Given the description of an element on the screen output the (x, y) to click on. 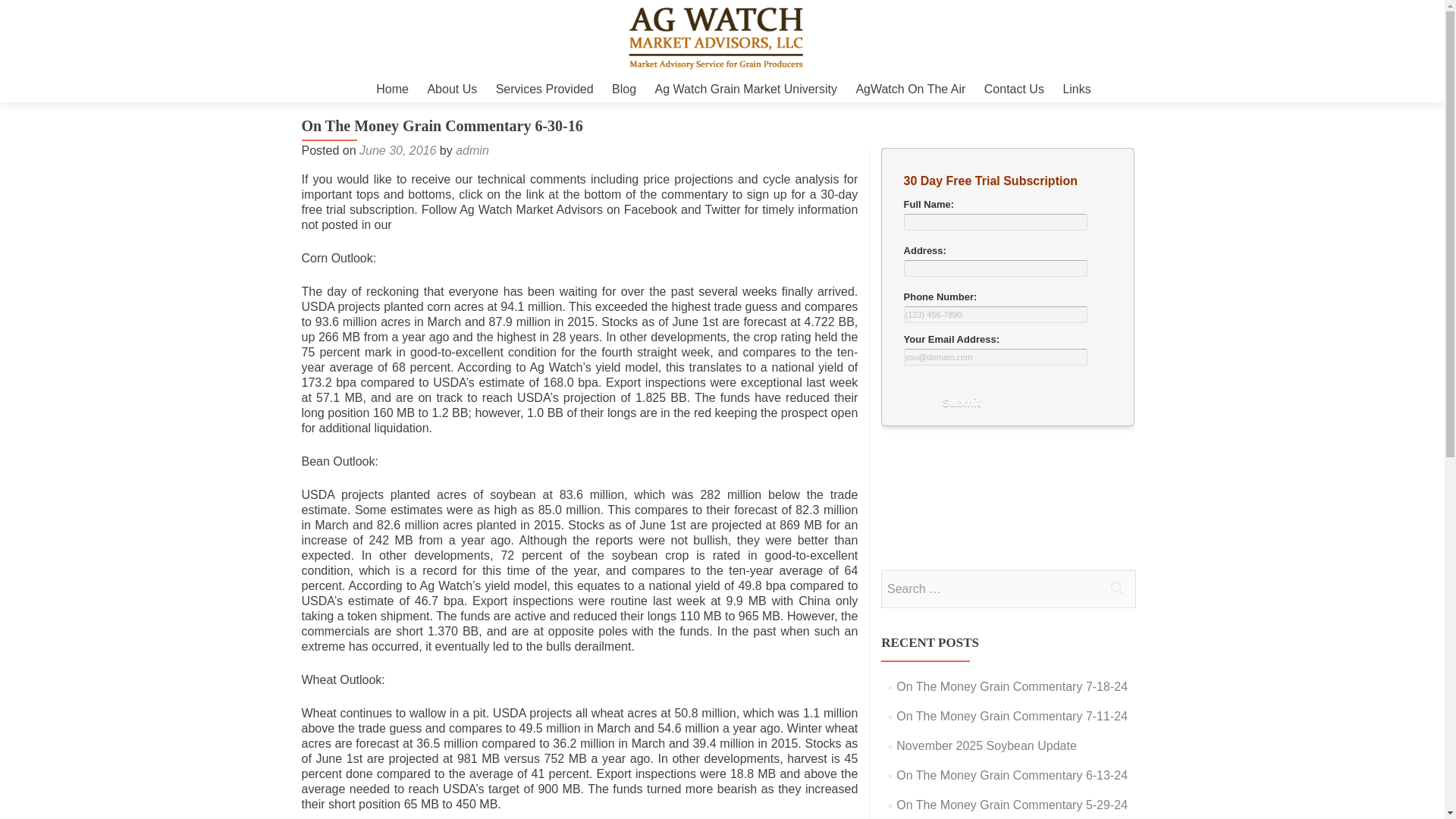
Search (1116, 587)
admin (472, 150)
June 30, 2016 (397, 150)
AgWatch On The Air (910, 89)
Search (1116, 587)
Ag Watch Grain Market University (746, 89)
Home (392, 89)
Search (1116, 587)
Services Provided (545, 89)
Links (1076, 89)
Contact Us (1013, 89)
Blog (623, 89)
About Us (451, 89)
